Given the description of an element on the screen output the (x, y) to click on. 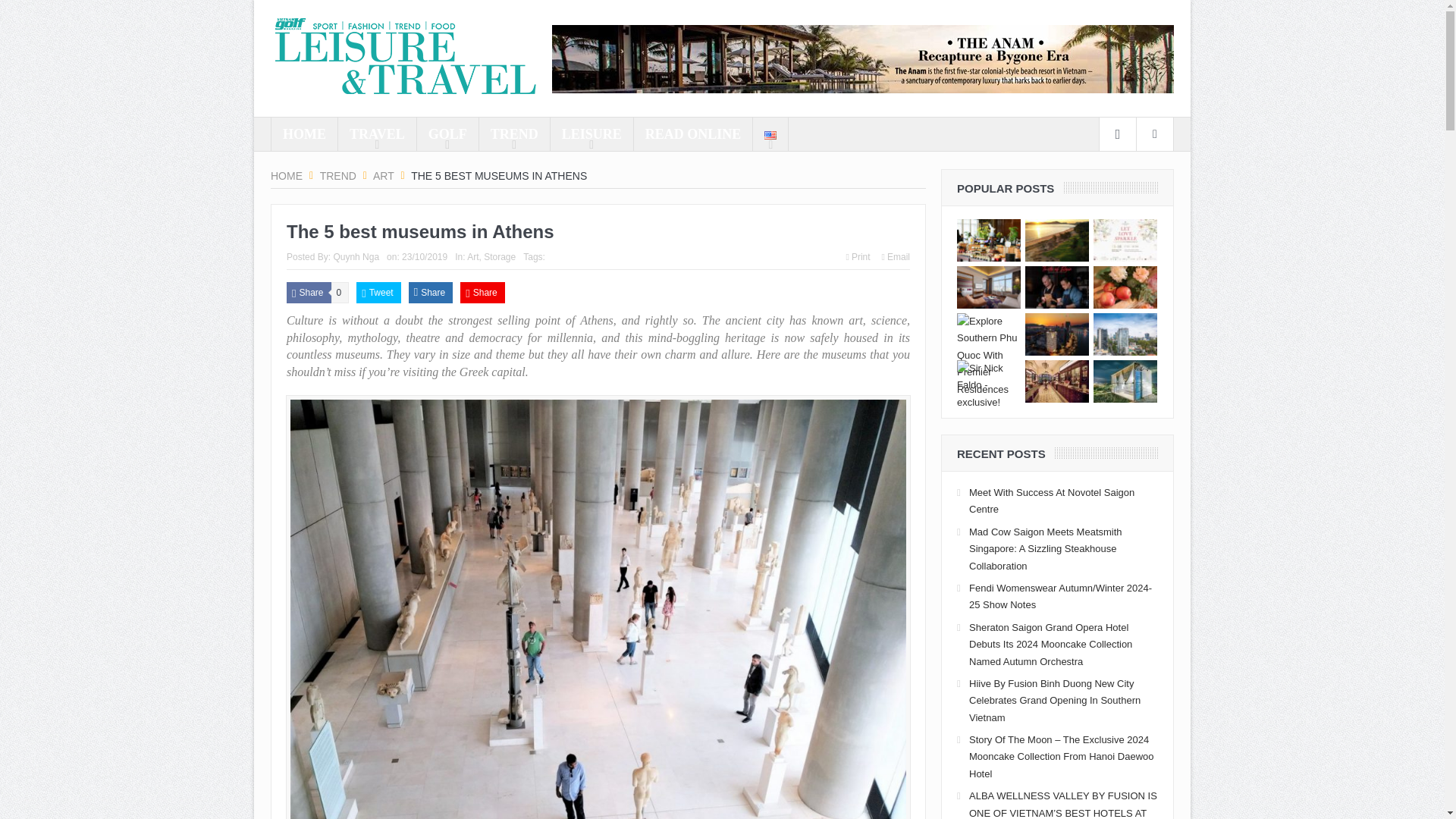
LEISURE (591, 133)
HOME (303, 133)
TRAVEL (376, 133)
GOLF (447, 133)
View all posts in Storage (499, 256)
TREND (514, 133)
Art (383, 175)
View all posts in Art (473, 256)
Trend (338, 175)
READ ONLINE (692, 133)
